Given the description of an element on the screen output the (x, y) to click on. 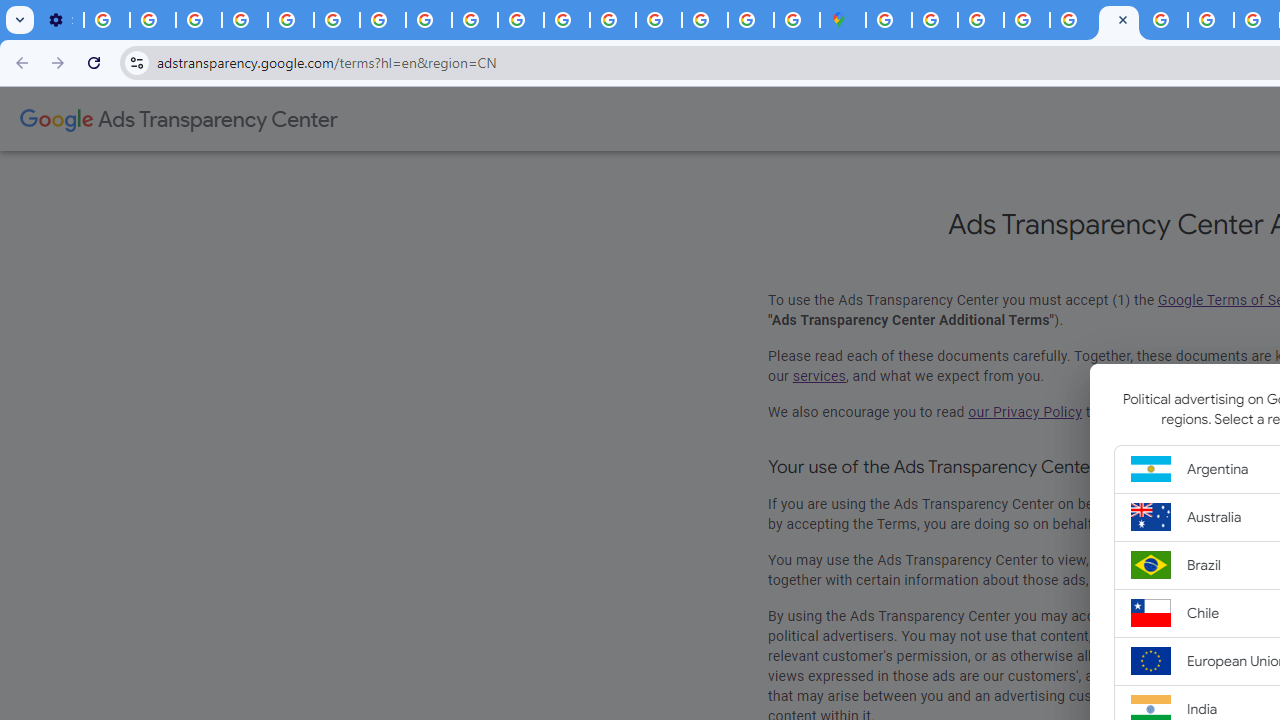
Google Maps (843, 20)
Go to Ads Transparency Center home page. (178, 120)
YouTube (336, 20)
Terms and Conditions (1118, 20)
Privacy Help Center - Policies Help (290, 20)
Sign in - Google Accounts (659, 20)
